Given the description of an element on the screen output the (x, y) to click on. 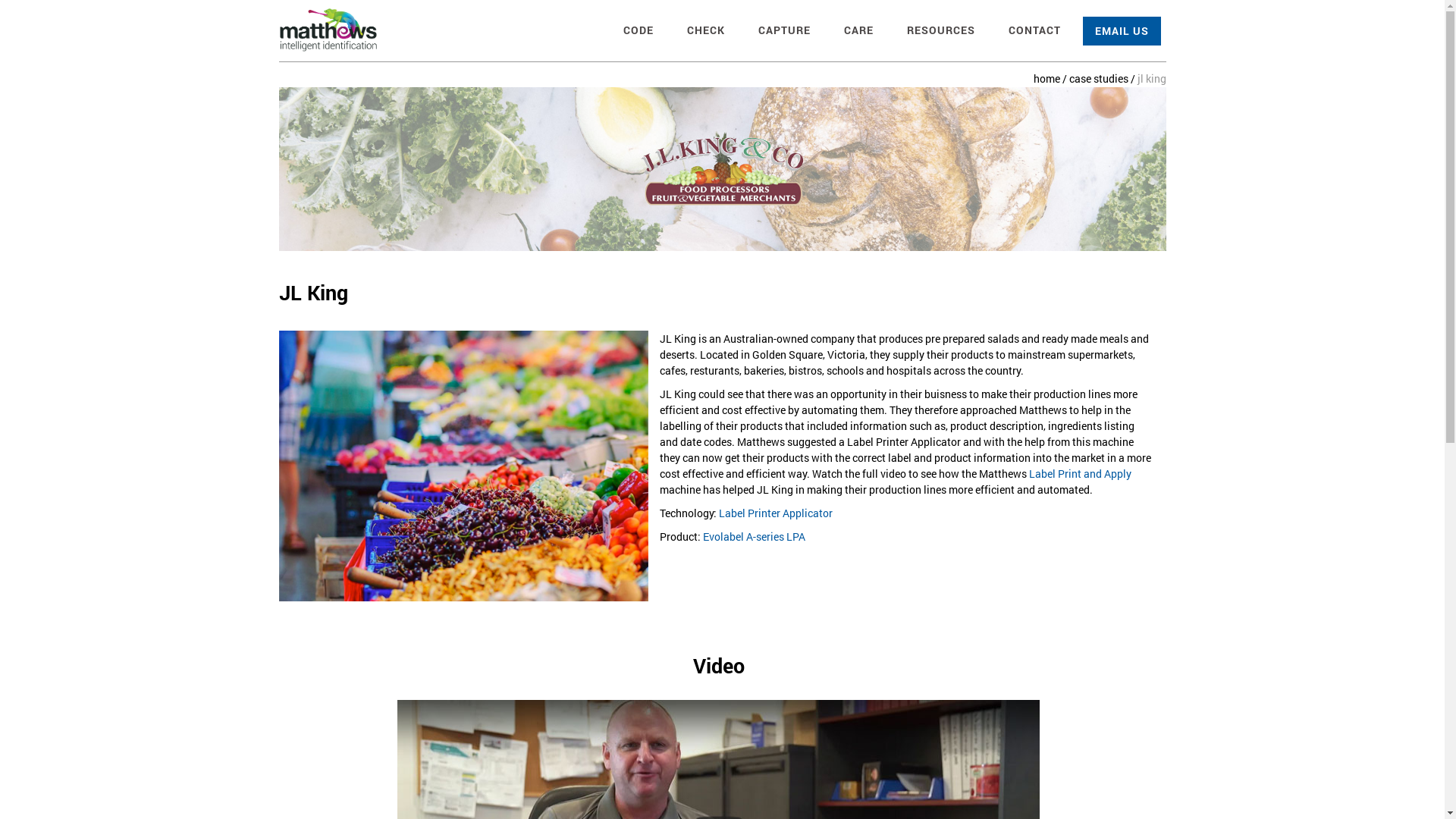
Label Printer Applicator Element type: text (775, 512)
CODE Element type: text (637, 30)
CARE Element type: text (858, 30)
EMAIL US Element type: text (1121, 30)
case studies Element type: text (1098, 78)
CAPTURE Element type: text (783, 30)
RESOURCES Element type: text (939, 30)
CHECK Element type: text (704, 30)
home Element type: text (1045, 78)
Label Print and Apply Element type: text (1080, 473)
Evolabel A-series LPA Element type: text (753, 536)
CONTACT Element type: text (1033, 30)
